Given the description of an element on the screen output the (x, y) to click on. 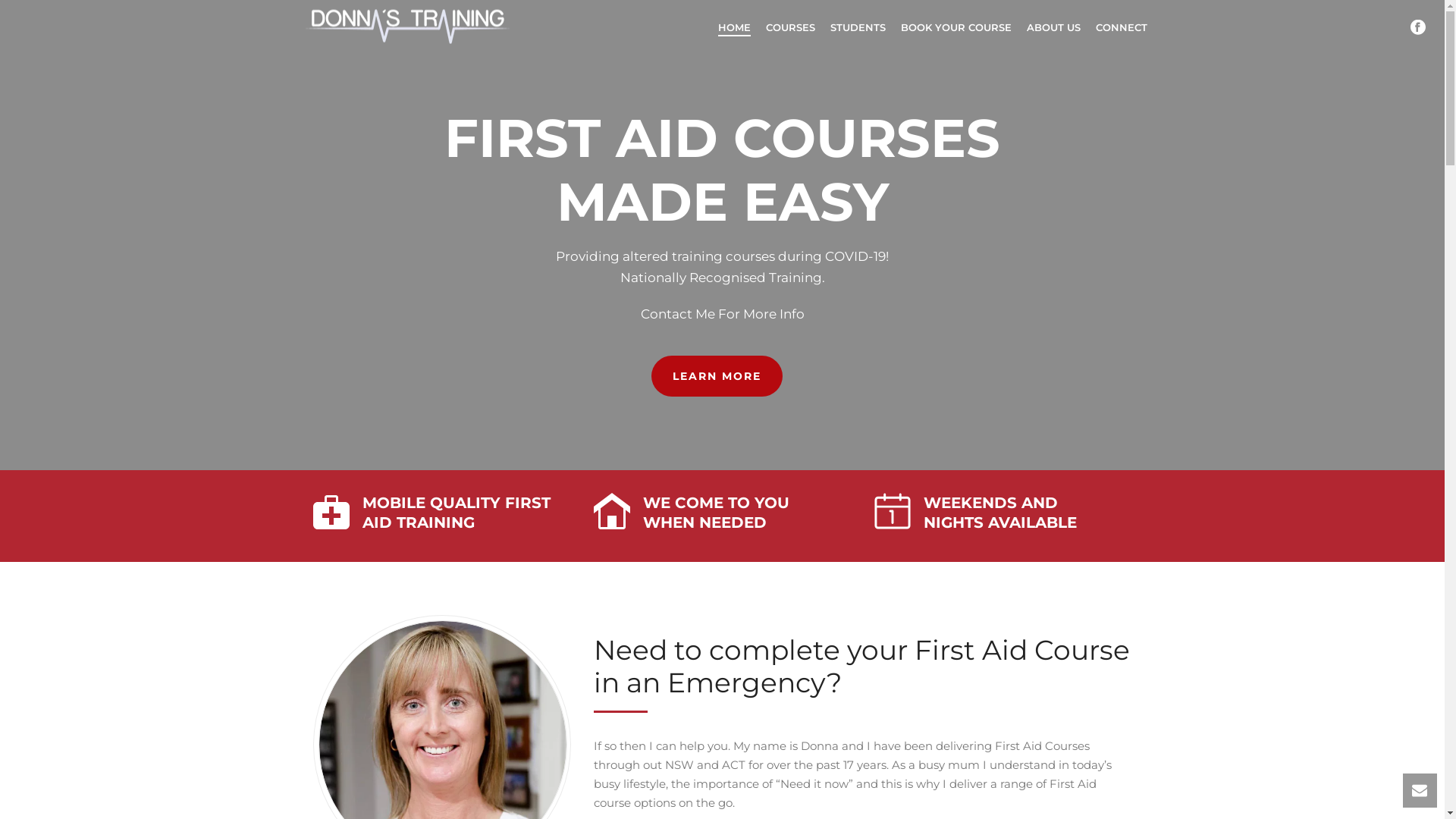
CONNECT Element type: text (1120, 27)
ABOUT US Element type: text (1053, 27)
First Aid Courses Made Easy Element type: hover (406, 26)
LEARN MORE Element type: text (715, 375)
HOME Element type: text (733, 27)
STUDENTS Element type: text (857, 27)
BOOK YOUR COURSE Element type: text (956, 27)
COURSES Element type: text (790, 27)
